Given the description of an element on the screen output the (x, y) to click on. 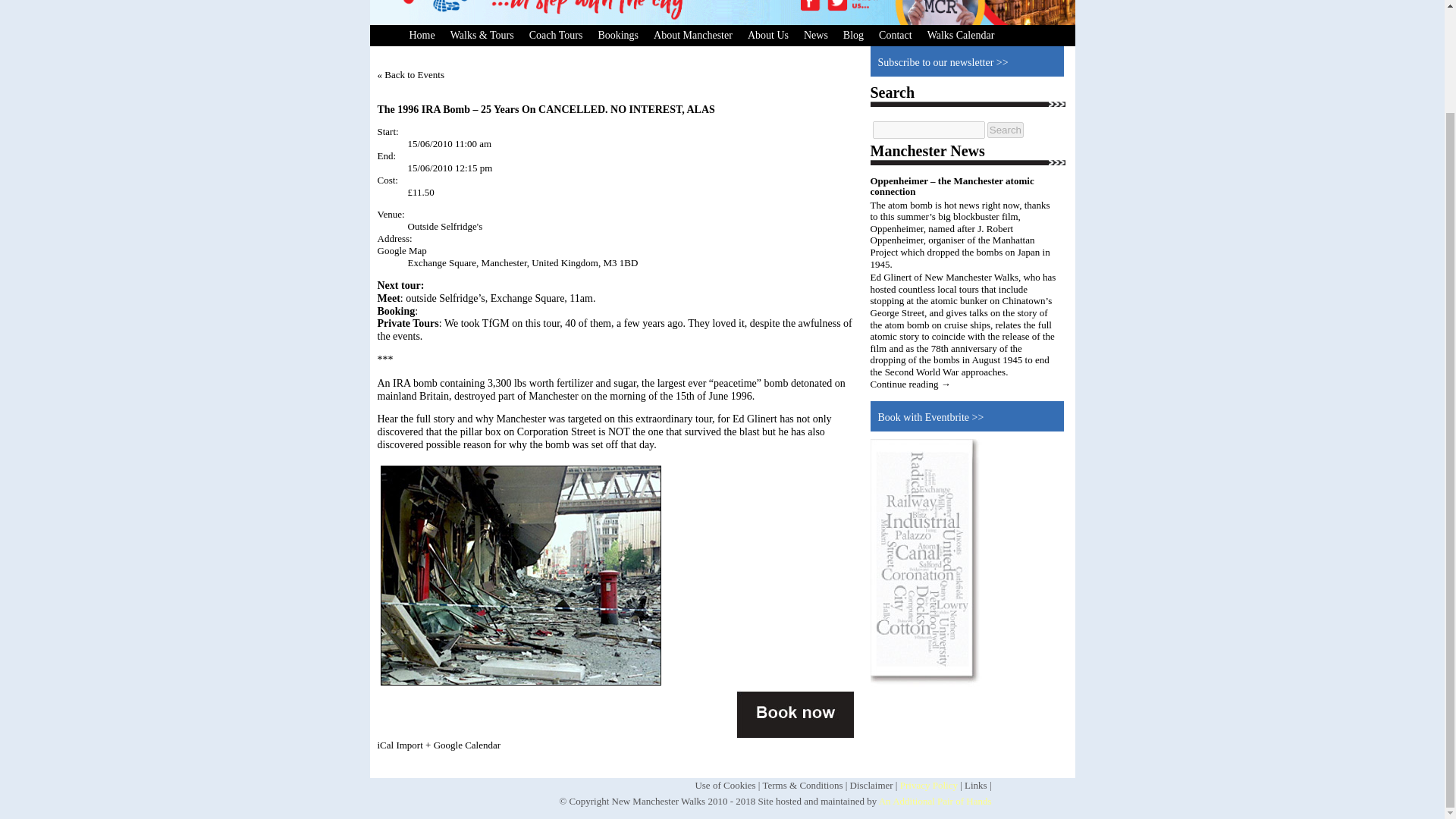
An Additional Pair of Hands (935, 800)
Disclaimer (871, 785)
iCal Import (400, 745)
Search (1005, 130)
Blog (852, 35)
Walks Calendar (961, 35)
Privacy Policy (928, 785)
Home (421, 35)
Google Map (401, 250)
About Manchester (692, 35)
Use of Cookies (724, 785)
News (815, 35)
Search (1005, 130)
Click to view a Google Map (401, 250)
Links (975, 785)
